Given the description of an element on the screen output the (x, y) to click on. 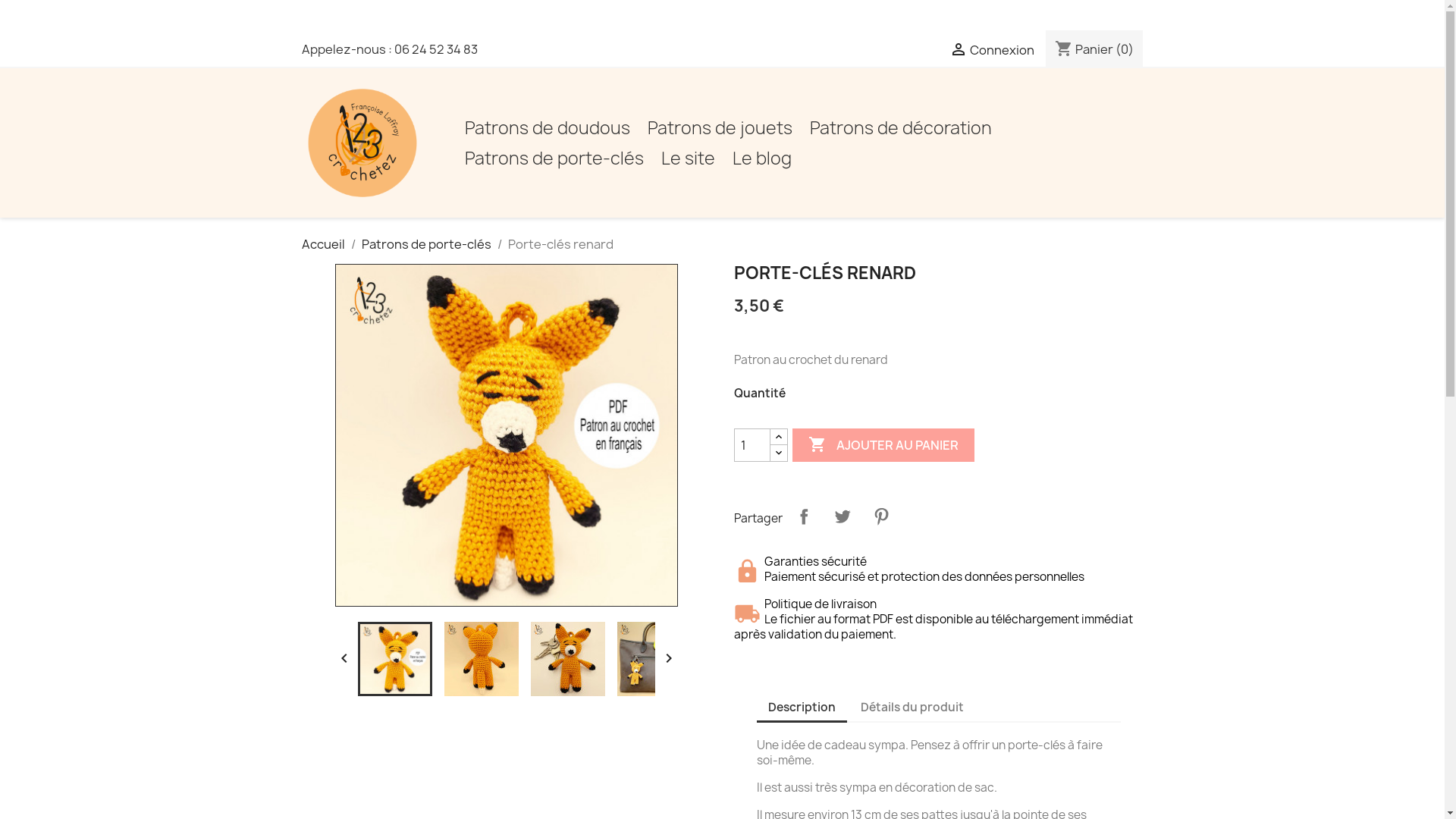
Tweet Element type: text (841, 516)
Le site Element type: text (687, 158)
Partager Element type: text (803, 516)
Le blog Element type: text (761, 158)
Accueil Element type: text (323, 243)
Description Element type: text (801, 707)
Patrons de doudous Element type: text (546, 127)
Patrons de jouets Element type: text (720, 127)
Pinterest Element type: text (881, 516)
